Given the description of an element on the screen output the (x, y) to click on. 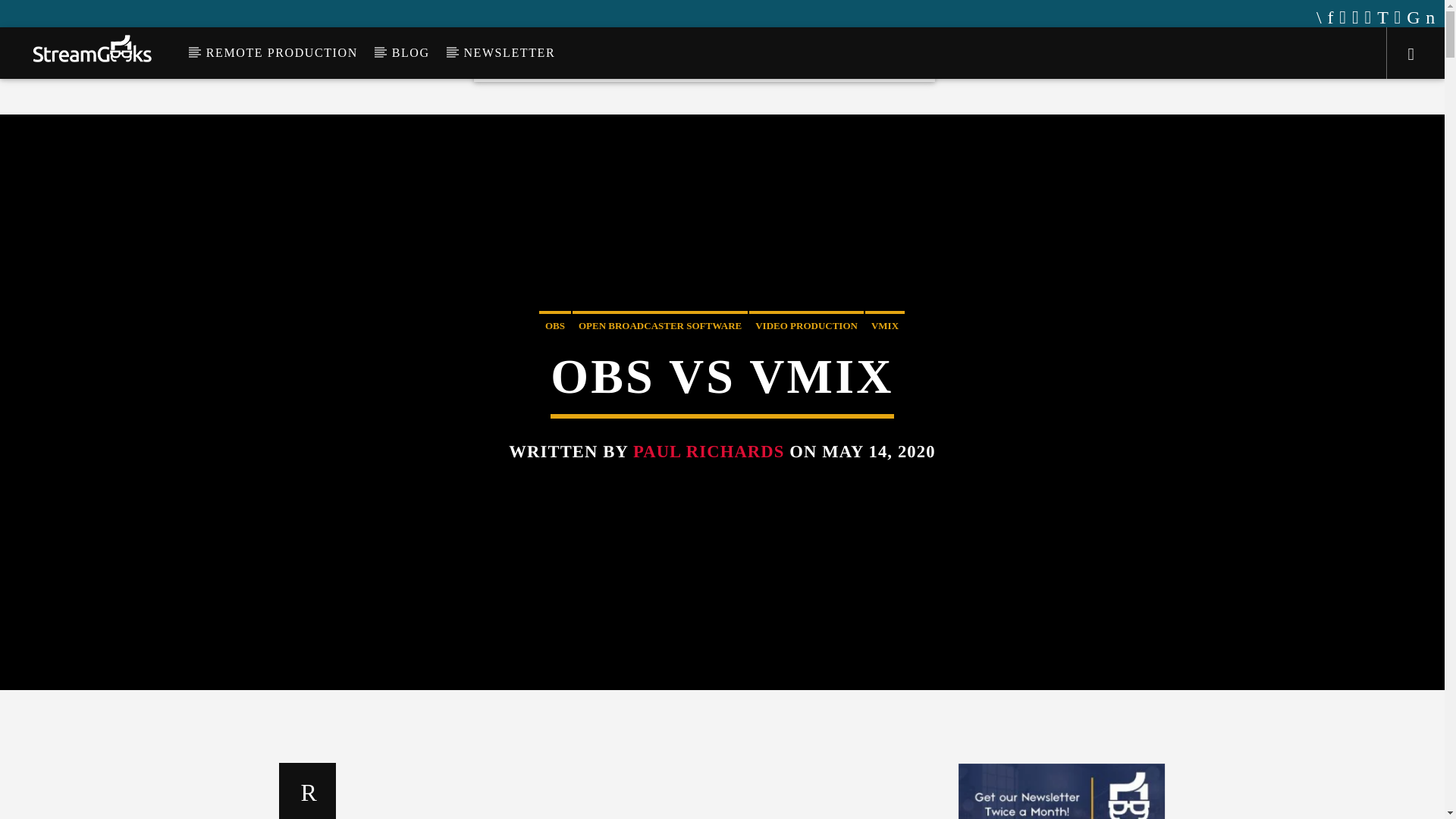
NEWSLETTER (509, 52)
OBS vs vMix (646, 790)
BLOG (410, 52)
REMOTE PRODUCTION (281, 52)
Search (1203, 100)
StreamGeeks Facebook Group (380, 18)
Newsletter (893, 54)
Blog (829, 54)
Register for the StreamGeeks Summit! (565, 18)
Remote Production (741, 54)
